Given the description of an element on the screen output the (x, y) to click on. 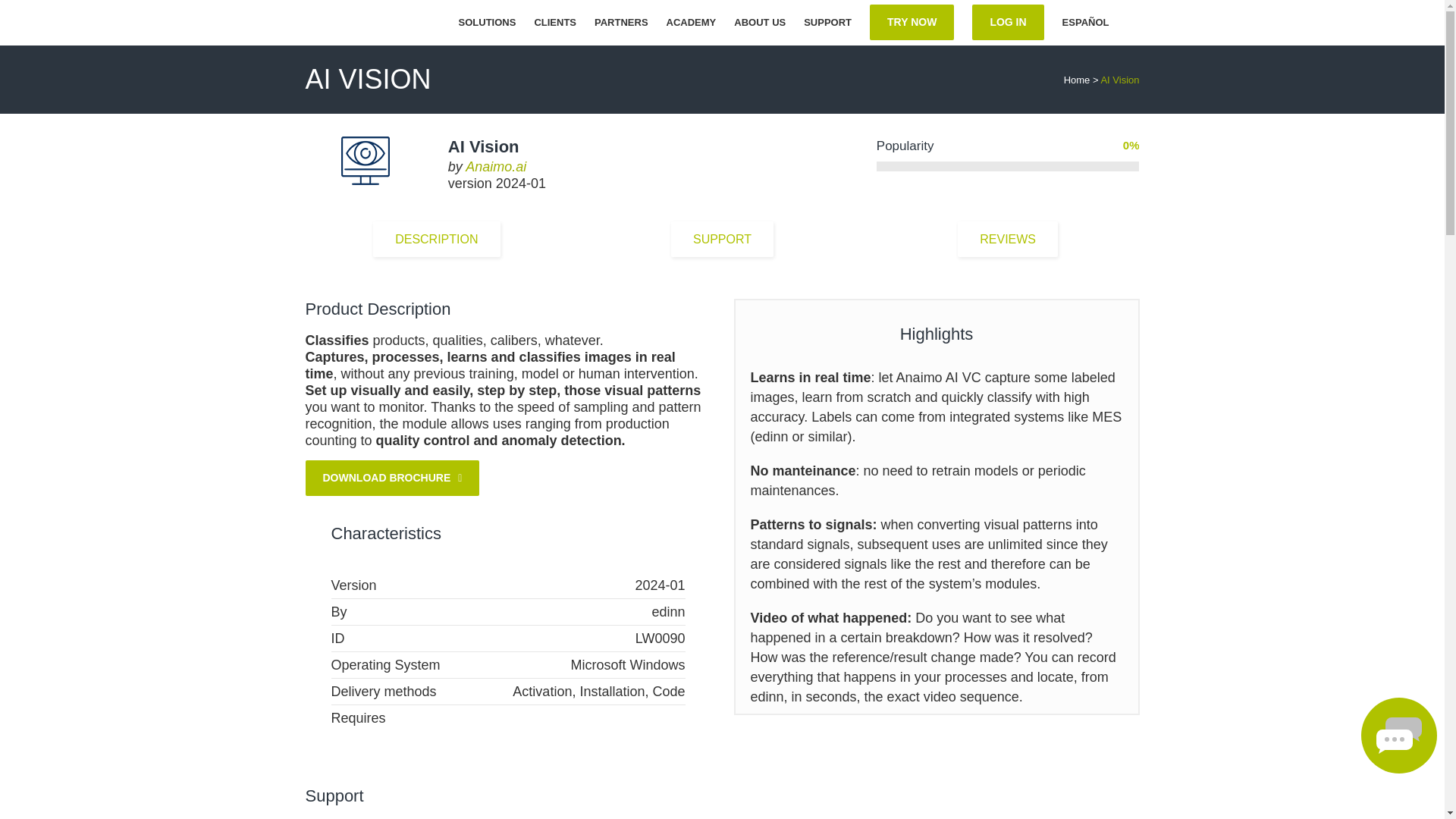
ai-failure-prediction-icon (365, 160)
ABOUT US (759, 22)
CLIENTS (554, 22)
SOLUTIONS (487, 22)
PARTNERS (621, 22)
ACADEMY (691, 22)
TRY NOW (911, 22)
SUPPORT (827, 22)
